Given the description of an element on the screen output the (x, y) to click on. 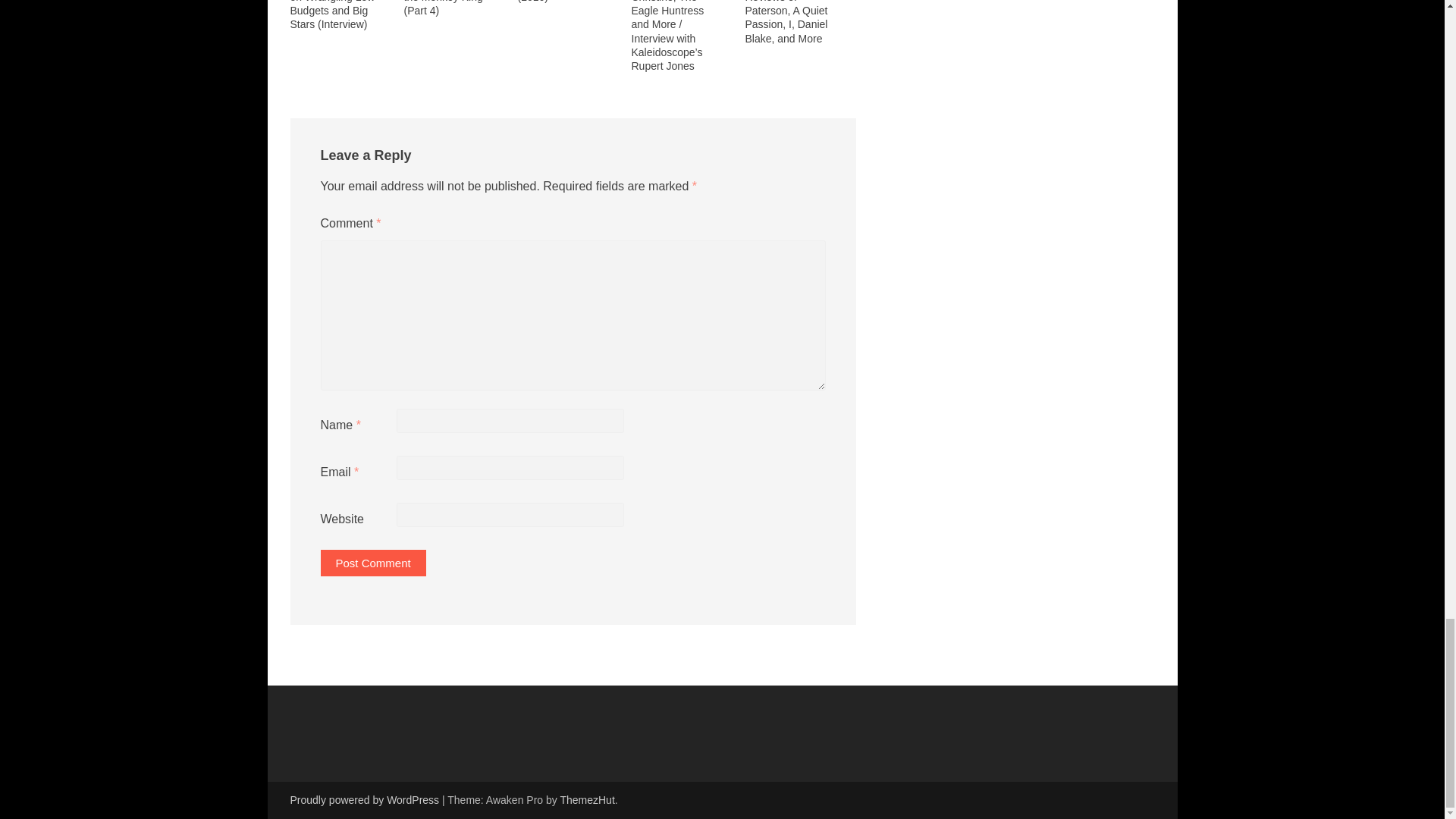
Post Comment (372, 562)
